Given the description of an element on the screen output the (x, y) to click on. 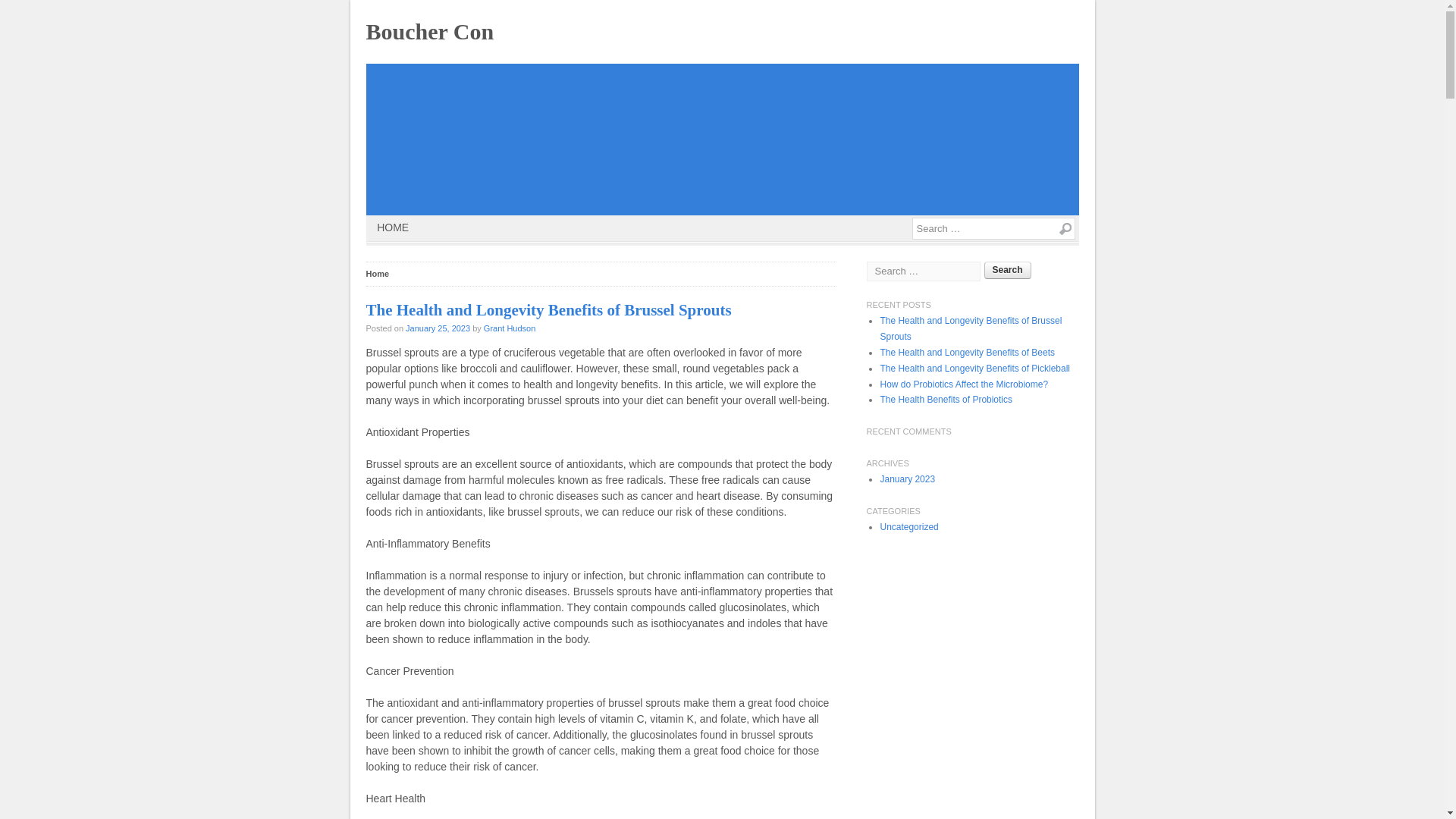
3:12 am (438, 327)
The Health and Longevity Benefits of Beets (966, 352)
Search (1007, 270)
Boucher Con (429, 31)
Search (1062, 228)
January 2023 (906, 479)
The Health and Longevity Benefits of Pickleball (974, 368)
Search (1062, 228)
The Health and Longevity Benefits of Brussel Sprouts (547, 310)
Boucher Con (429, 31)
The Health and Longevity Benefits of Brussel Sprouts (970, 328)
How do Probiotics Affect the Microbiome? (963, 384)
The Health Benefits of Probiotics (945, 398)
January 25, 2023 (438, 327)
